Given the description of an element on the screen output the (x, y) to click on. 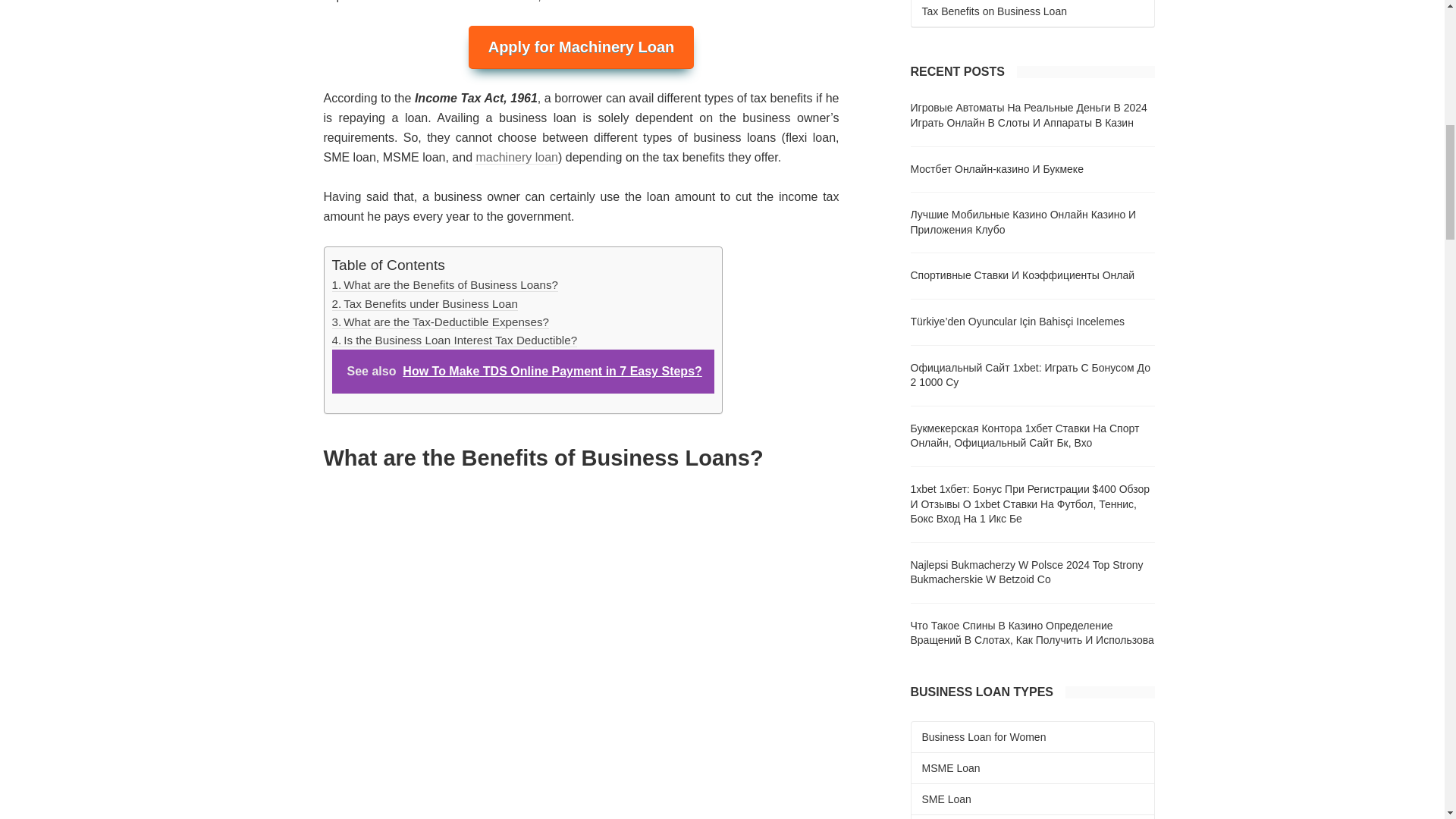
Is the Business Loan Interest Tax Deductible? (454, 340)
Tax Benefits under Business Loan (424, 304)
What are the Benefits of Business Loans? (445, 284)
Apply for Machinery Loan (581, 46)
See also  How To Make TDS Online Payment in 7 Easy Steps? (522, 371)
machinery loan (516, 157)
What are the Tax-Deductible Expenses? (439, 322)
Is the Business Loan Interest Tax Deductible? (454, 340)
What are the Benefits of Business Loans? (445, 284)
What are the Tax-Deductible Expenses? (439, 322)
Tax Benefits under Business Loan (424, 304)
